Given the description of an element on the screen output the (x, y) to click on. 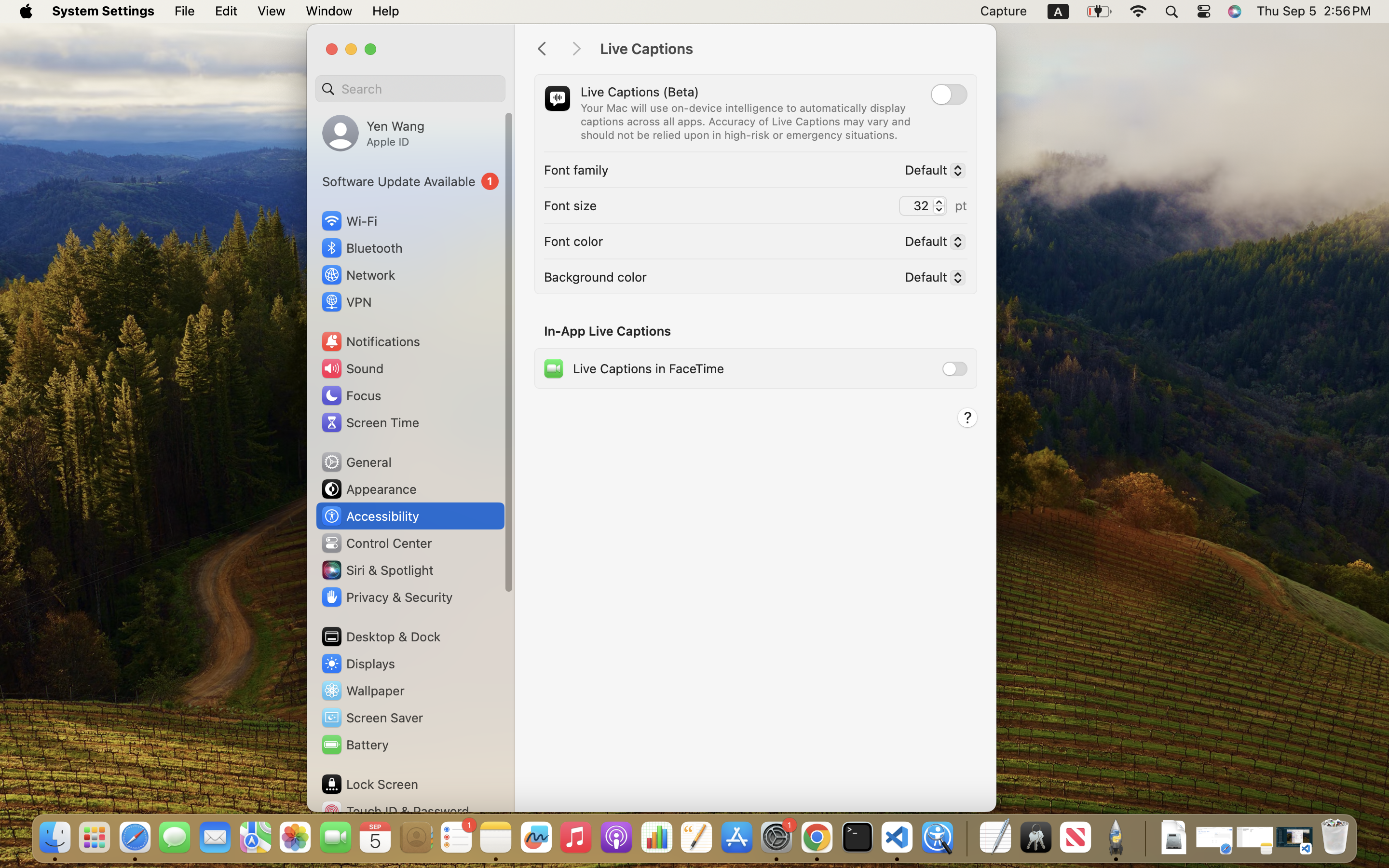
Desktop & Dock Element type: AXStaticText (380, 636)
Bluetooth Element type: AXStaticText (361, 247)
Privacy & Security Element type: AXStaticText (386, 596)
Your Mac will use on-device intelligence to automatically display captions across all apps. Accuracy of Live Captions may vary and should not be relied upon in high-risk or emergency situations. Element type: AXStaticText (746, 121)
General Element type: AXStaticText (355, 461)
